Given the description of an element on the screen output the (x, y) to click on. 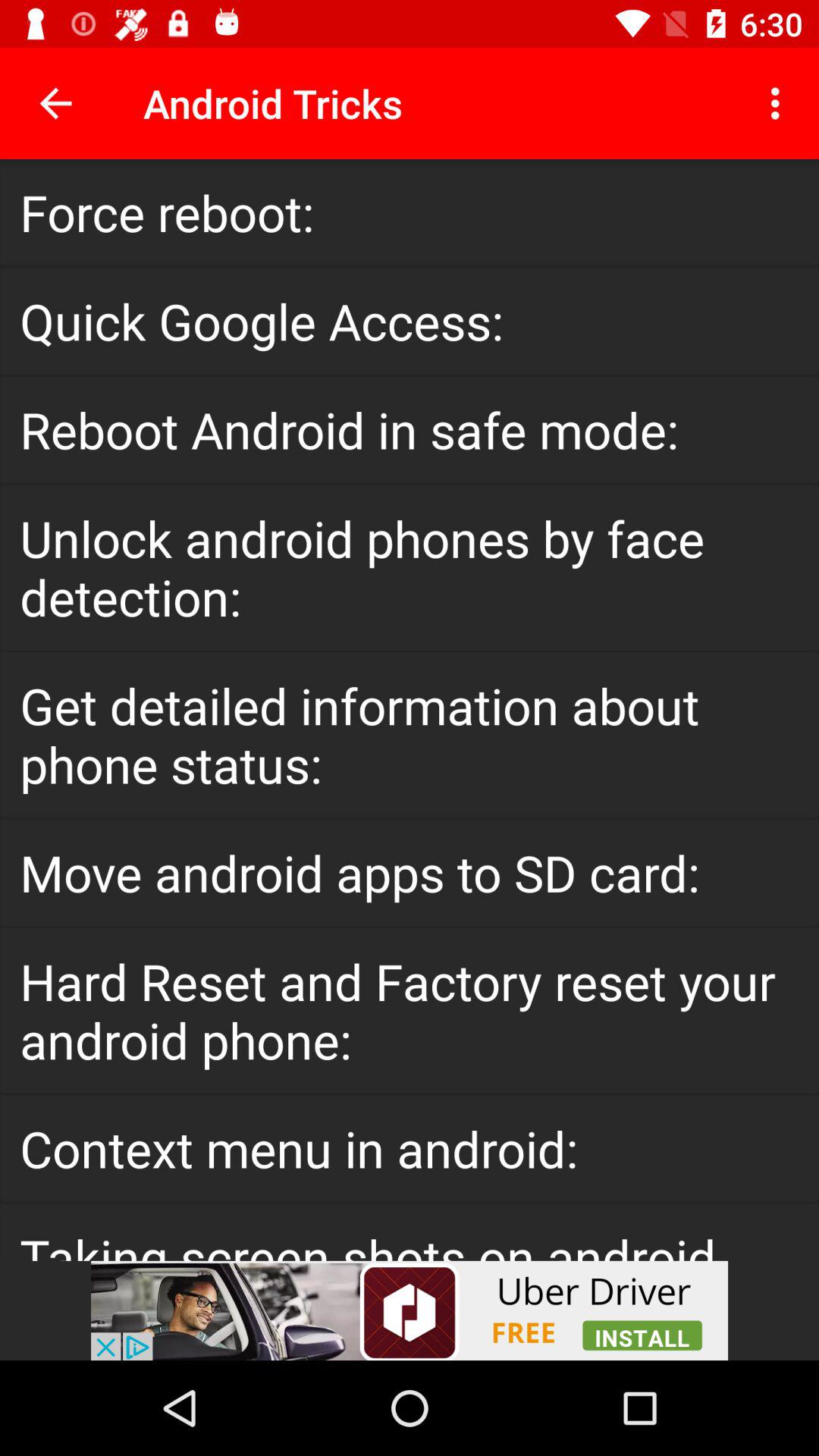
advertisement (409, 1310)
